Given the description of an element on the screen output the (x, y) to click on. 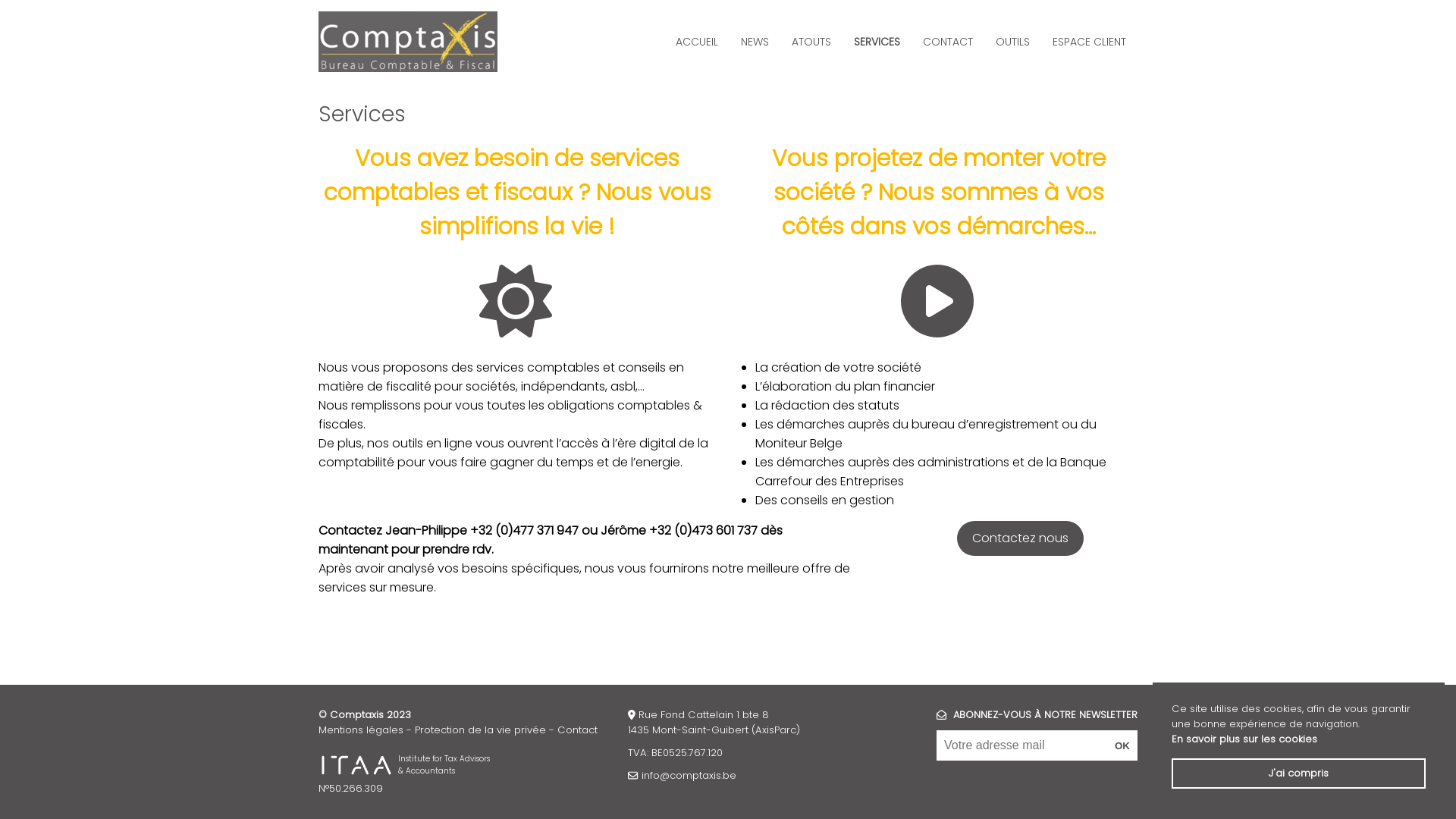
En savoir plus sur les cookies Element type: text (1244, 738)
OUTILS Element type: text (1012, 41)
NEWS Element type: text (754, 41)
ESPACE CLIENT Element type: text (1089, 41)
info@comptaxis.be Element type: text (688, 775)
Contactez nous Element type: text (1020, 537)
ATOUTS Element type: text (811, 41)
SERVICES Element type: text (876, 41)
OK Element type: text (1122, 745)
Comptaxis Element type: hover (407, 41)
Contact Element type: text (577, 729)
ACCUEIL Element type: text (696, 41)
CONTACT Element type: text (947, 41)
